Given the description of an element on the screen output the (x, y) to click on. 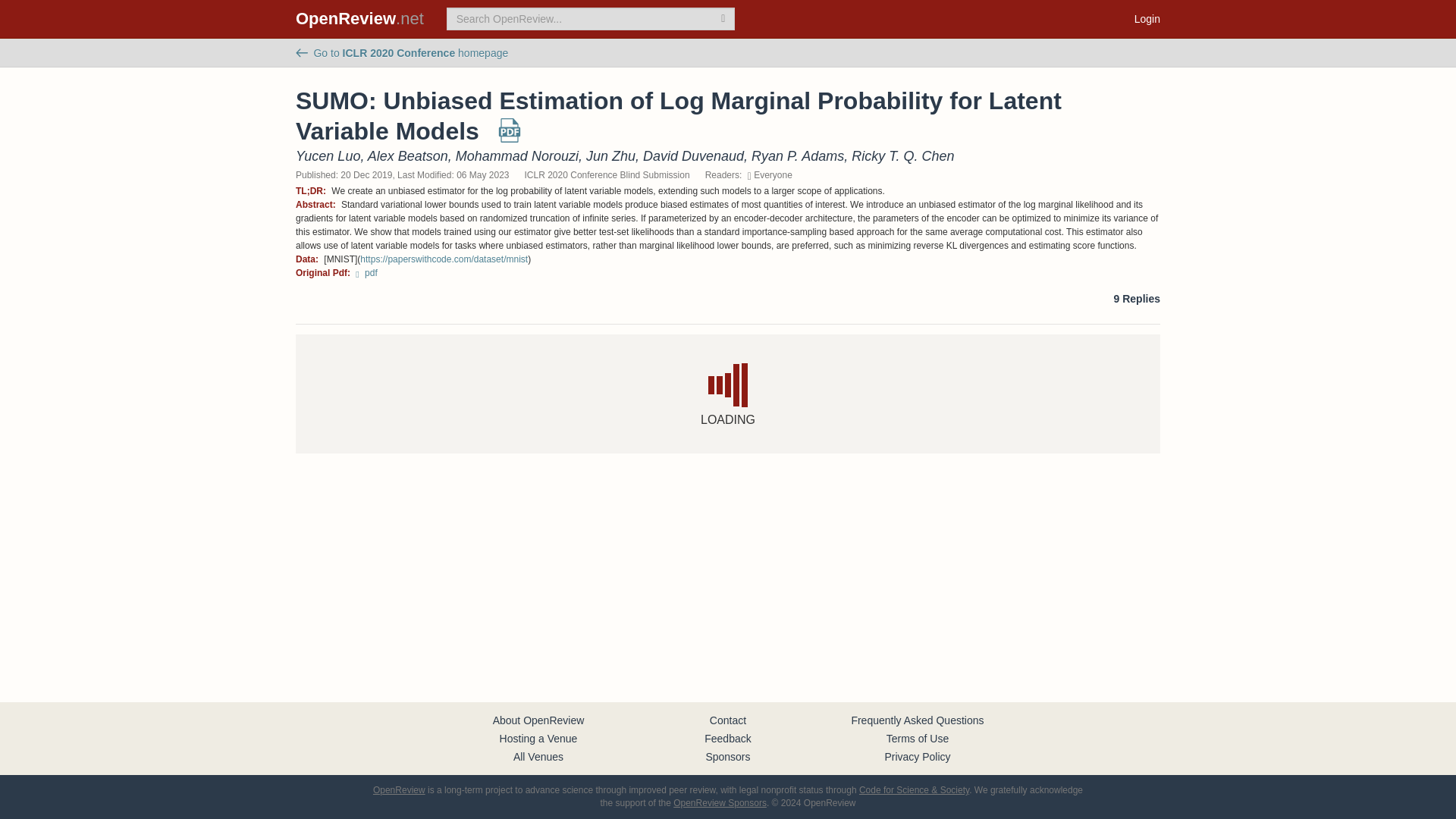
Hosting a Venue (538, 738)
OpenReview (398, 789)
Ricky T. Q. Chen (902, 155)
Ryan P. Adams (797, 155)
Go to ICLR 2020 Conference homepage (401, 52)
Jun Zhu (610, 155)
Feedback (727, 738)
Download PDF (509, 136)
Mohammad Norouzi (516, 155)
OpenReview Sponsors (719, 802)
David Duvenaud (693, 155)
Yucen Luo (327, 155)
About OpenReview (539, 720)
Frequently Asked Questions (917, 720)
Venue Homepage (401, 52)
